Given the description of an element on the screen output the (x, y) to click on. 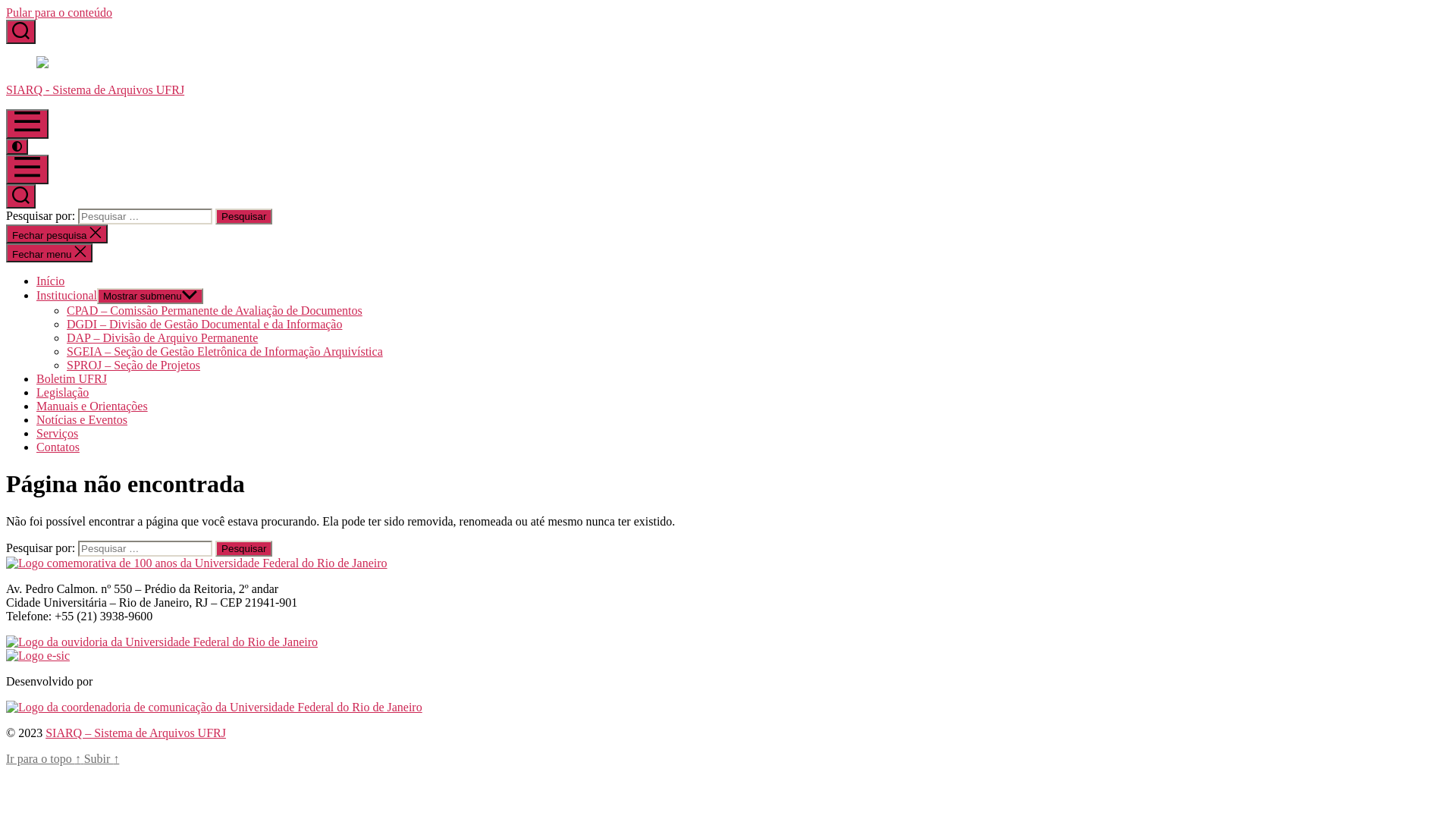
Fechar pesquisa Element type: text (56, 233)
Fechar menu Element type: text (49, 252)
SIARQ - Sistema de Arquivos UFRJ Element type: text (727, 76)
Pesquisar Element type: text (243, 548)
Pesquisar Element type: text (243, 216)
Institucional Element type: text (66, 294)
Mostrar submenu Element type: text (150, 296)
Boletim UFRJ Element type: text (71, 378)
Contatos Element type: text (57, 446)
